Given the description of an element on the screen output the (x, y) to click on. 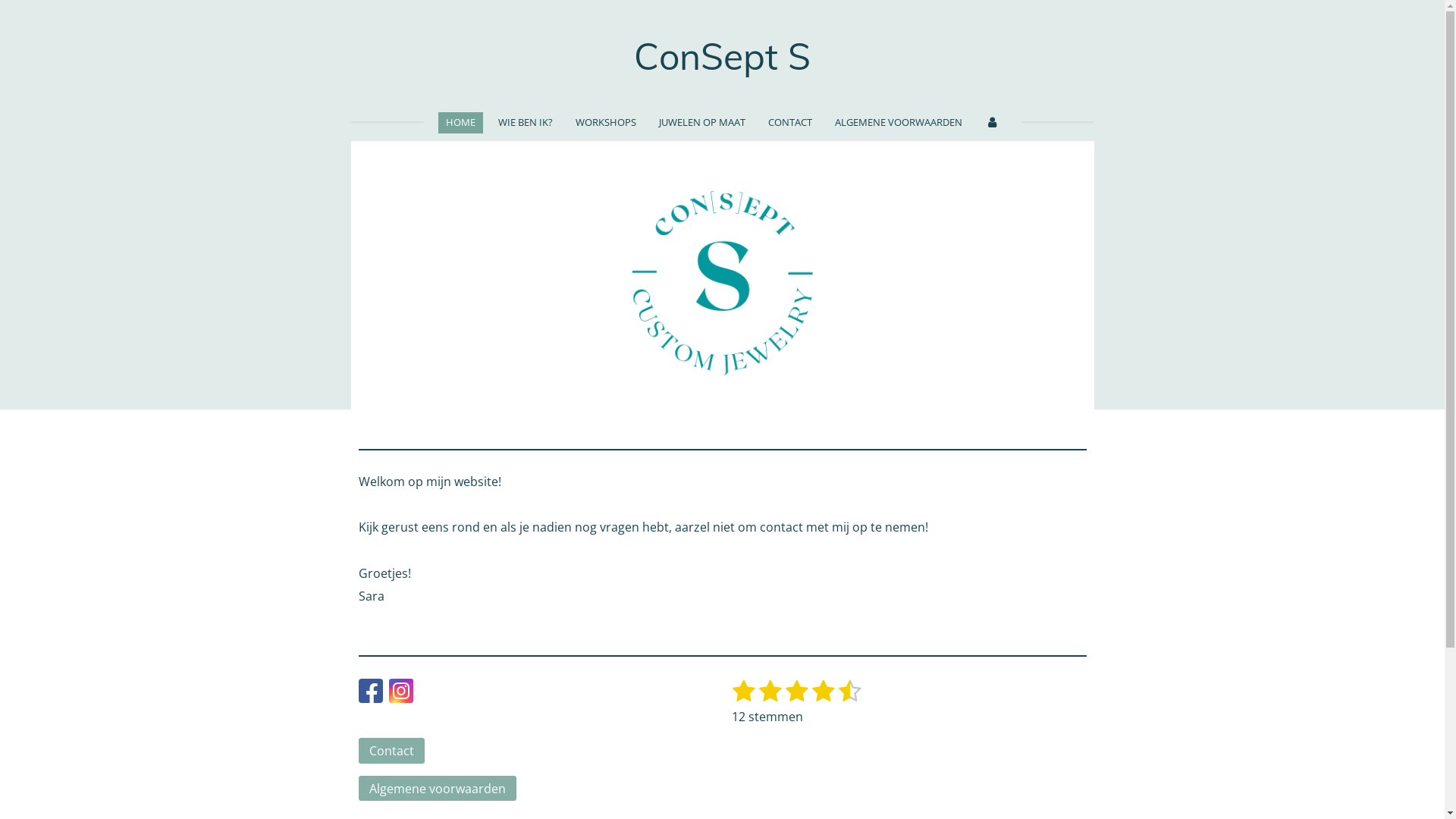
CONTACT Element type: text (789, 122)
Stemmen Element type: text (861, 677)
Contact Element type: text (390, 750)
JUWELEN OP MAAT Element type: text (702, 122)
Account Element type: hover (991, 122)
HOME Element type: text (460, 122)
WIE BEN IK? Element type: text (525, 122)
WORKSHOPS Element type: text (605, 122)
Algemene voorwaarden Element type: text (436, 788)
ALGEMENE VOORWAARDEN Element type: text (898, 122)
